Given the description of an element on the screen output the (x, y) to click on. 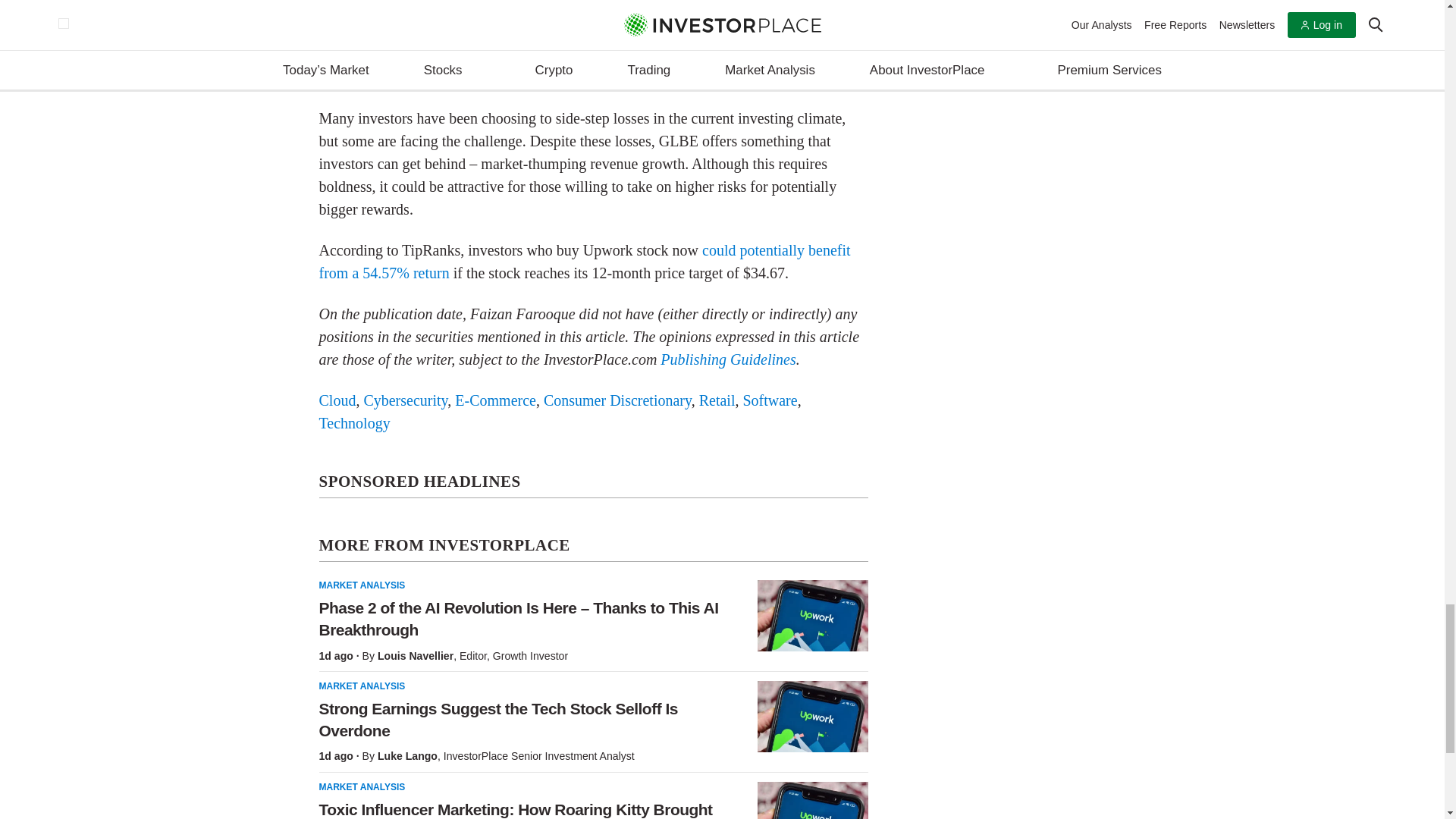
Articles from Cloud industry (336, 400)
Articles from Consumer Discretionary industry (617, 400)
View profile of Louis Navellier (414, 655)
Articles from Software industry (769, 400)
Articles from E-Commerce industry (494, 400)
View profile of Luke Lango (407, 756)
Articles from Technology industry (354, 422)
Articles from Retail industry (716, 400)
Articles from Cybersecurity industry (404, 400)
Strong Earnings Suggest the Tech Stock Selloff Is Overdone (812, 716)
